Given the description of an element on the screen output the (x, y) to click on. 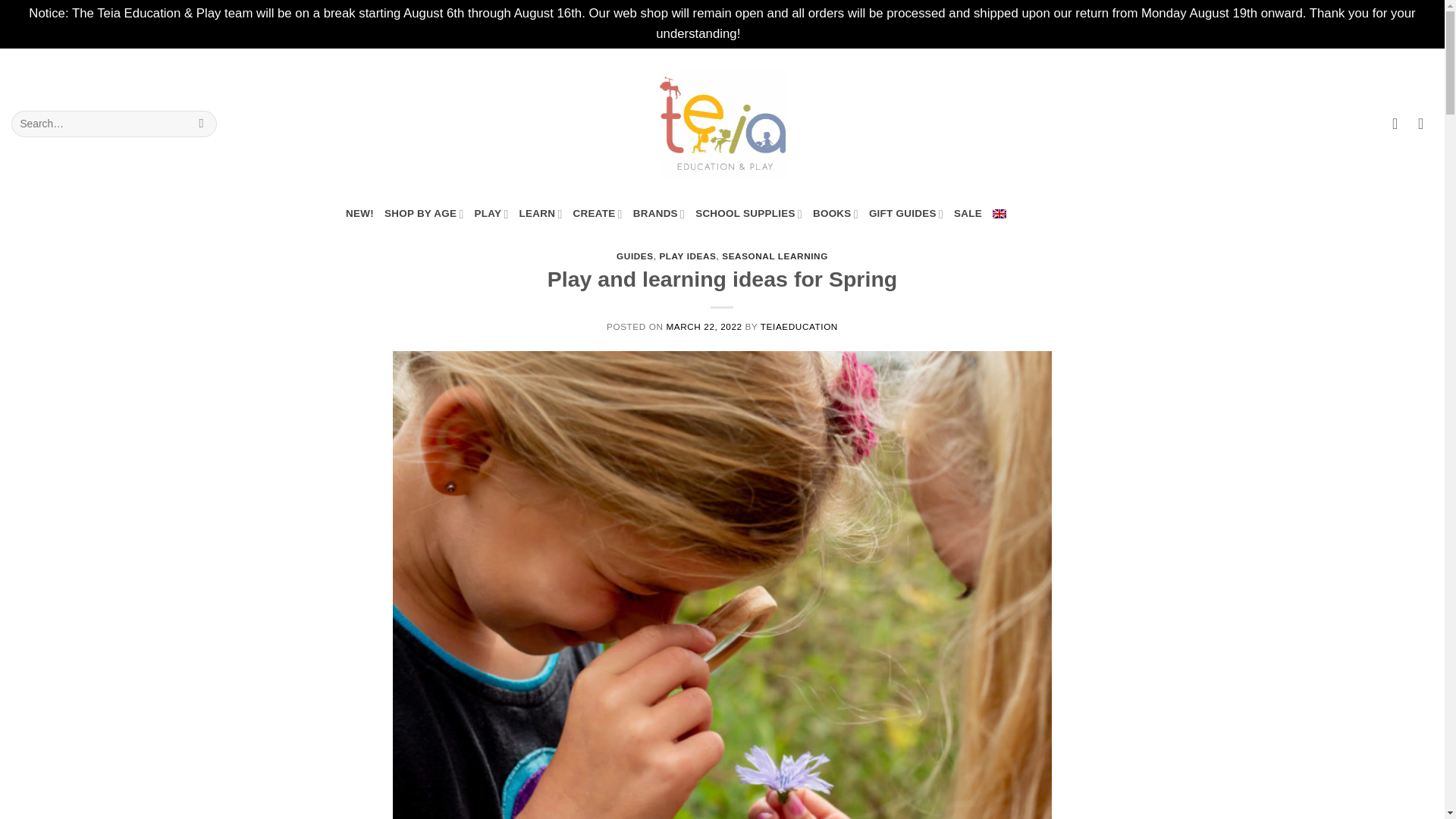
SHOP BY AGE (424, 214)
PLAY (491, 214)
NEW! (360, 213)
Search (200, 123)
Dismiss (766, 33)
